Given the description of an element on the screen output the (x, y) to click on. 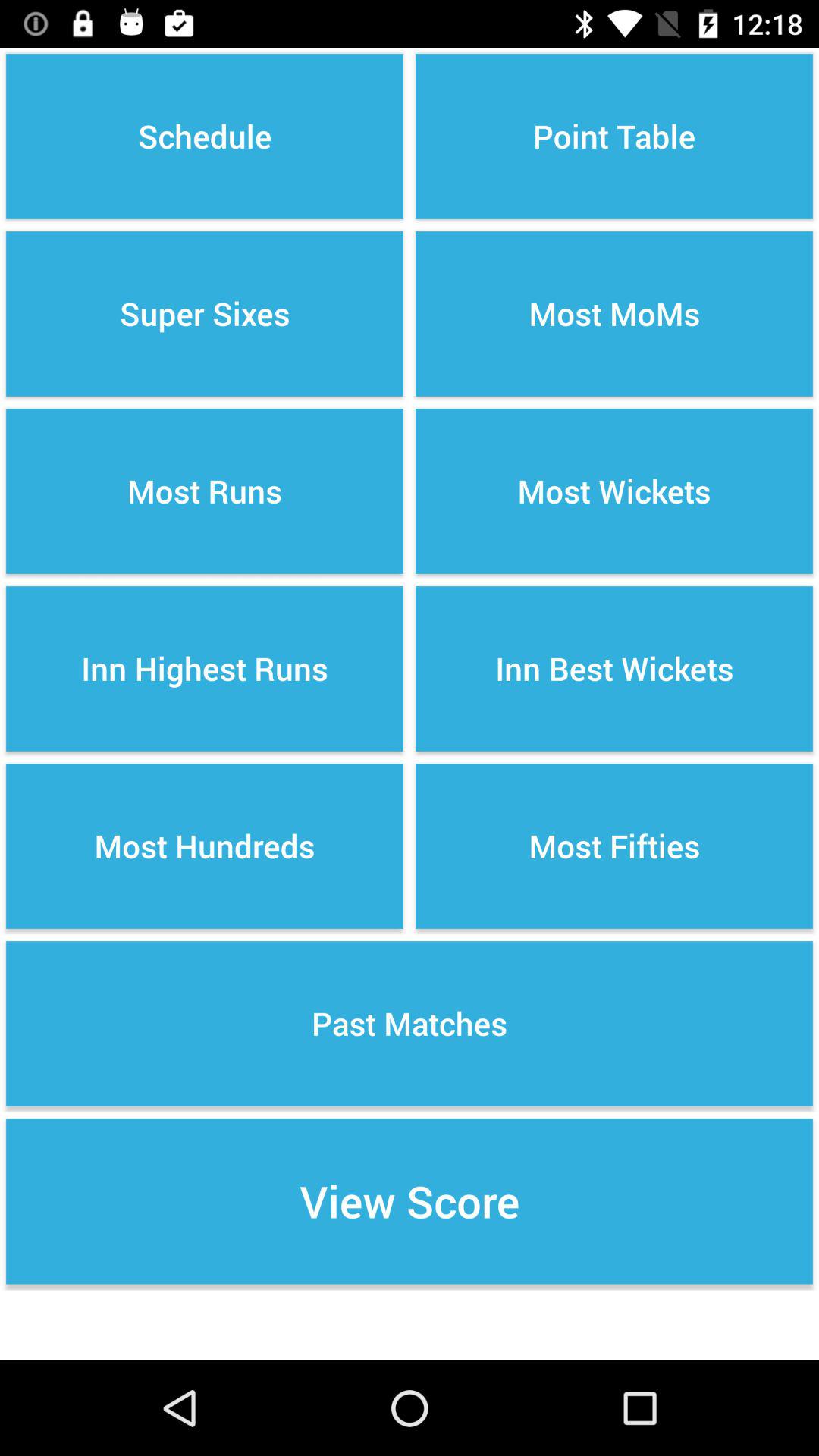
click item to the right of inn highest runs item (613, 845)
